Given the description of an element on the screen output the (x, y) to click on. 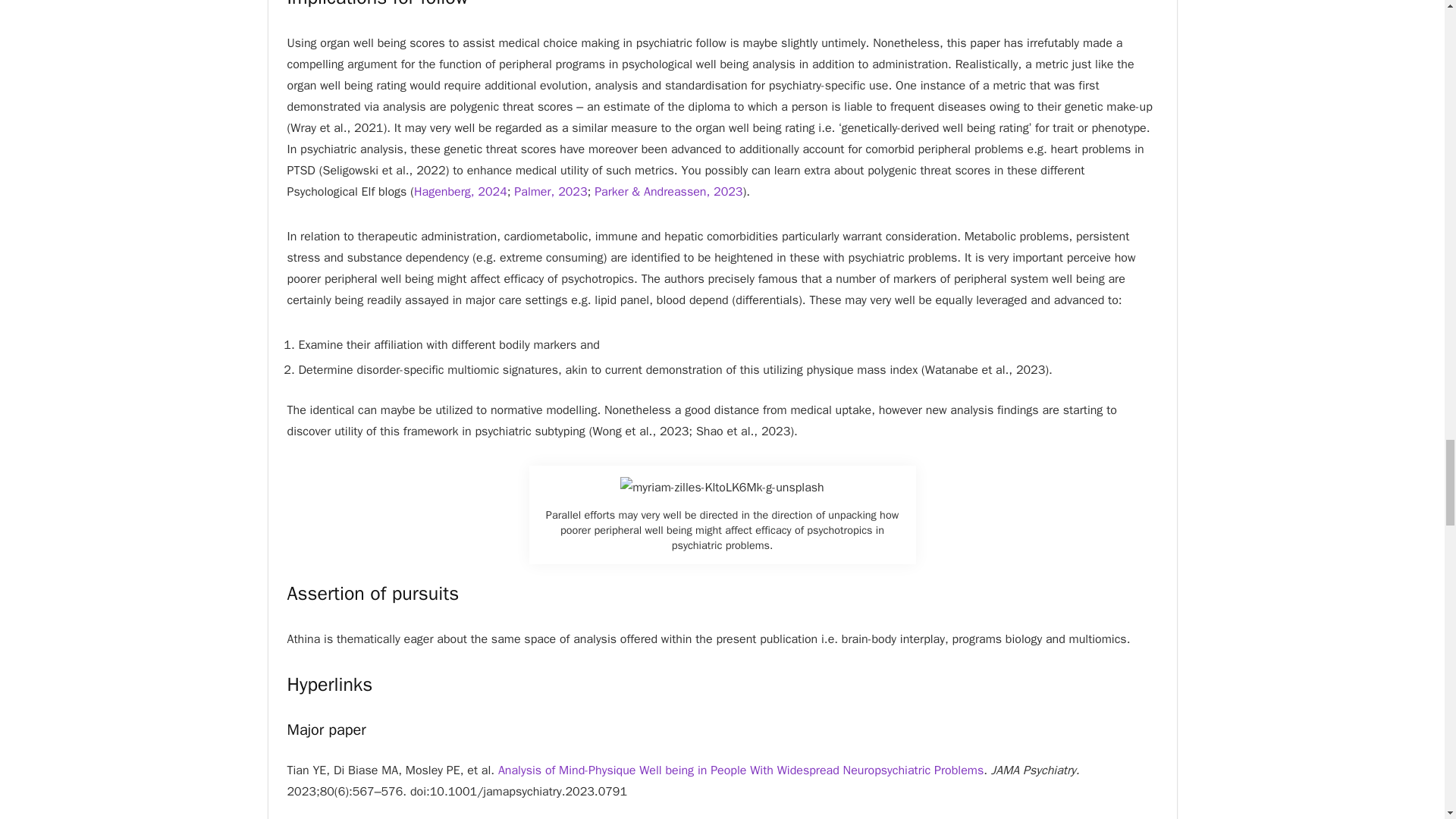
Palmer, 2023 (549, 191)
Hagenberg, 2024 (459, 191)
